Given the description of an element on the screen output the (x, y) to click on. 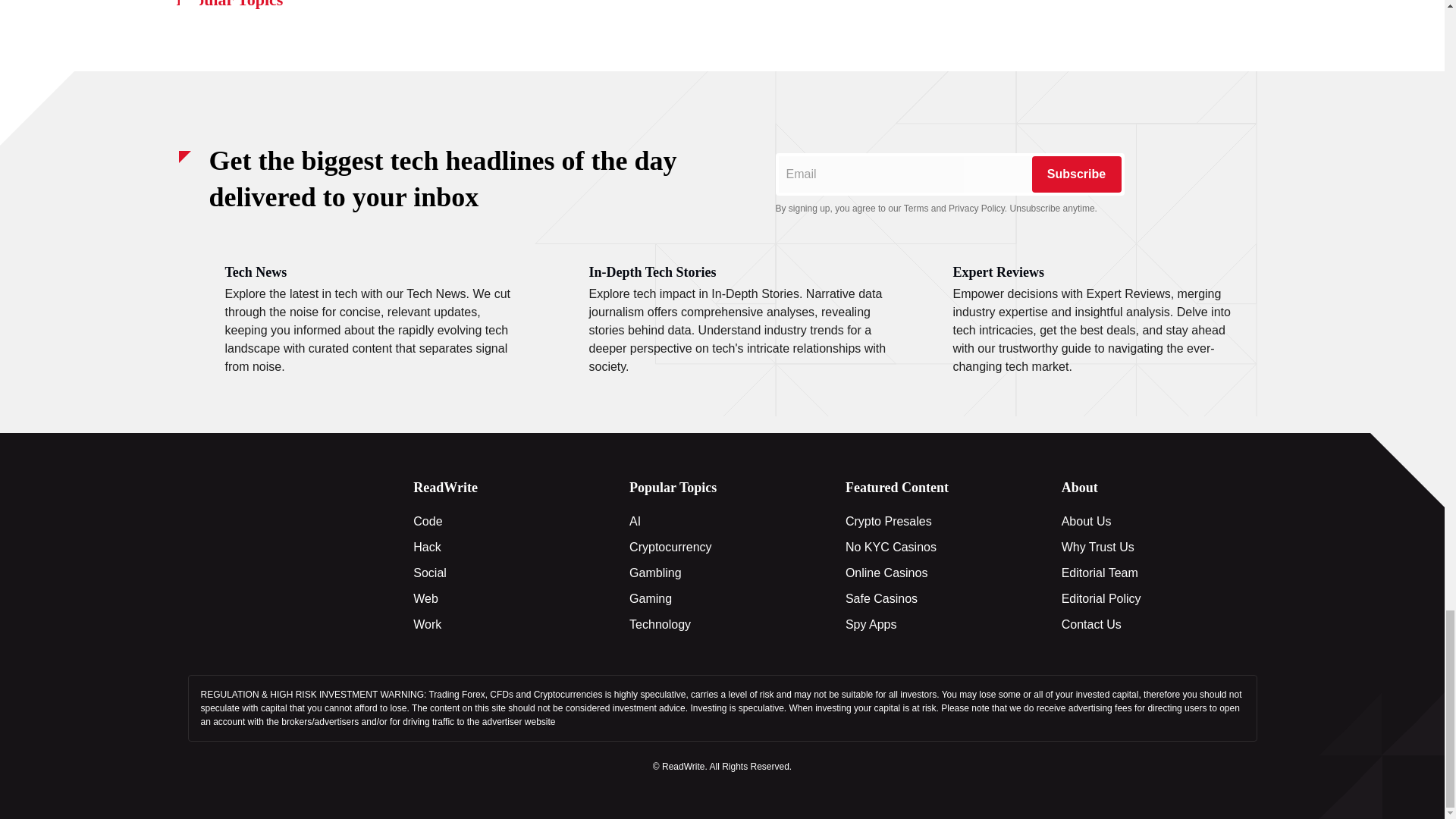
Subscribe (1075, 174)
